Given the description of an element on the screen output the (x, y) to click on. 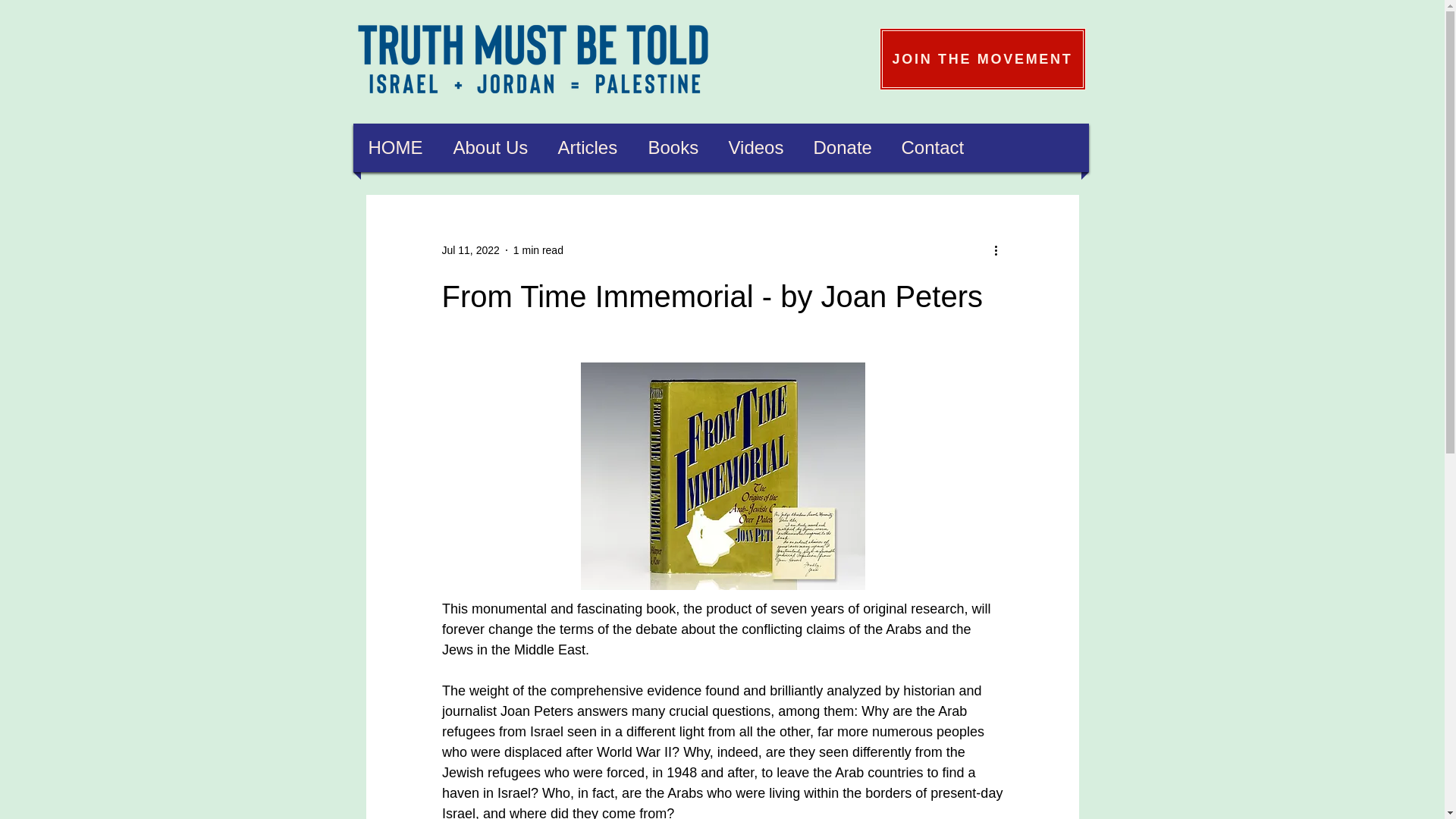
Books (673, 147)
Videos (755, 147)
JOIN THE MOVEMENT (982, 58)
Donate (842, 147)
Jul 11, 2022 (470, 250)
Contact (932, 147)
1 min read (538, 250)
HOME (394, 147)
